Given the description of an element on the screen output the (x, y) to click on. 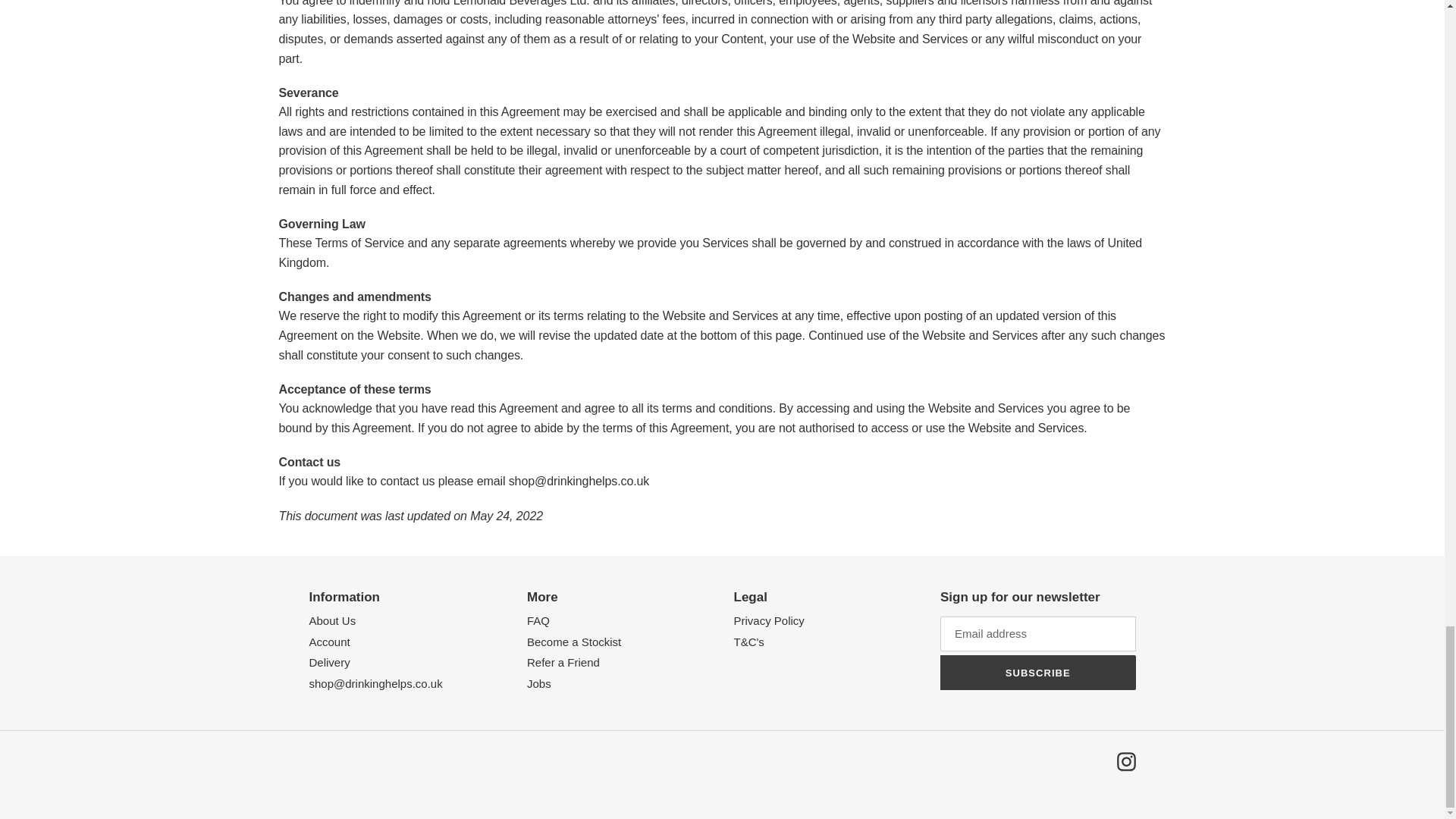
About Us (332, 620)
Refer a Friend (563, 662)
FAQ (538, 620)
Delivery (329, 662)
Privacy Policy (769, 620)
Account (329, 641)
SUBSCRIBE (1037, 672)
Become a Stockist (574, 641)
Instagram (1125, 761)
Jobs (539, 683)
